Given the description of an element on the screen output the (x, y) to click on. 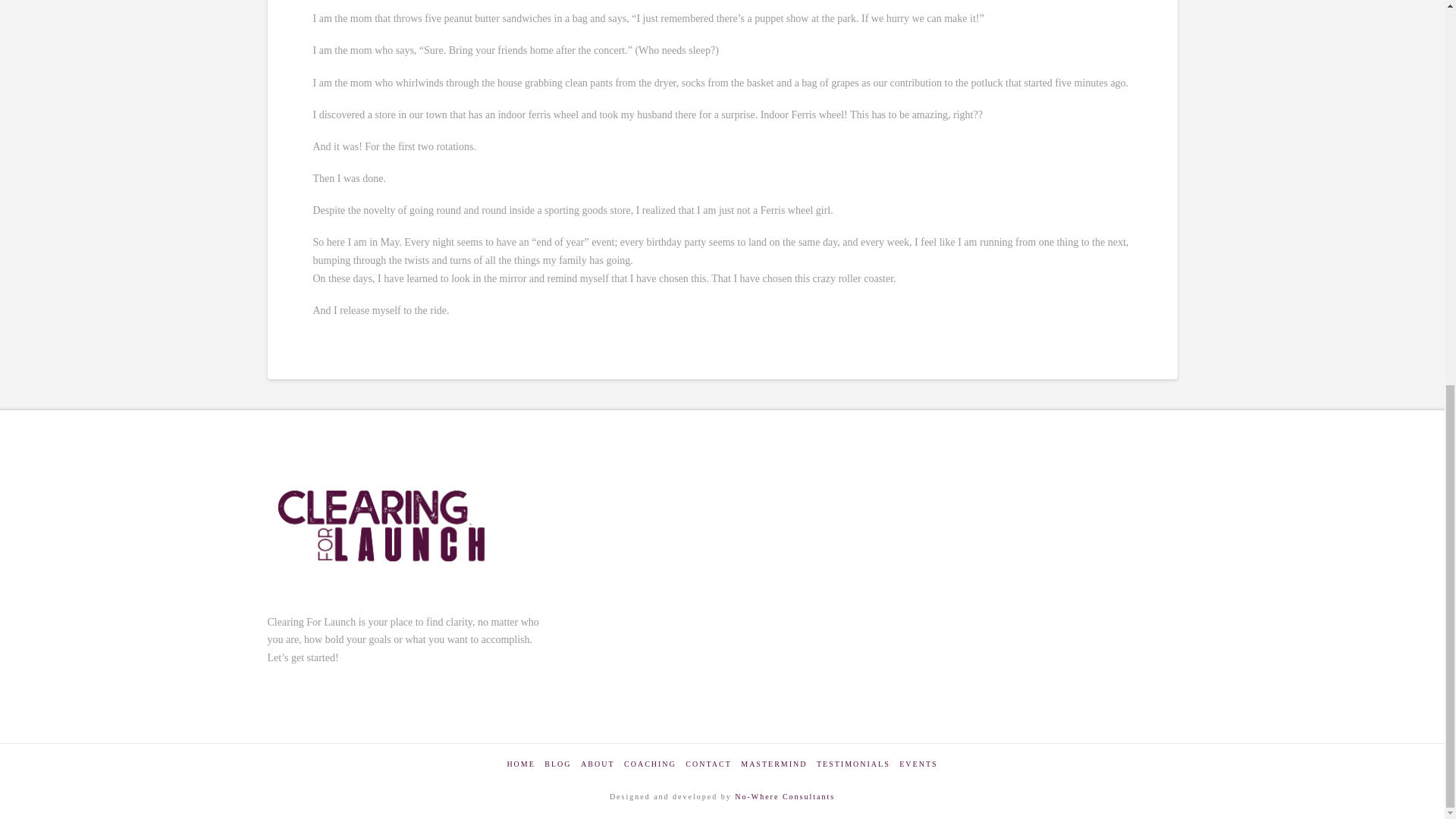
TESTIMONIALS (852, 764)
HOME (520, 764)
MASTERMIND (773, 764)
No-Where Consultants (784, 796)
CONTACT (707, 764)
ABOUT (597, 764)
EVENTS (918, 764)
COACHING (650, 764)
BLOG (557, 764)
